Given the description of an element on the screen output the (x, y) to click on. 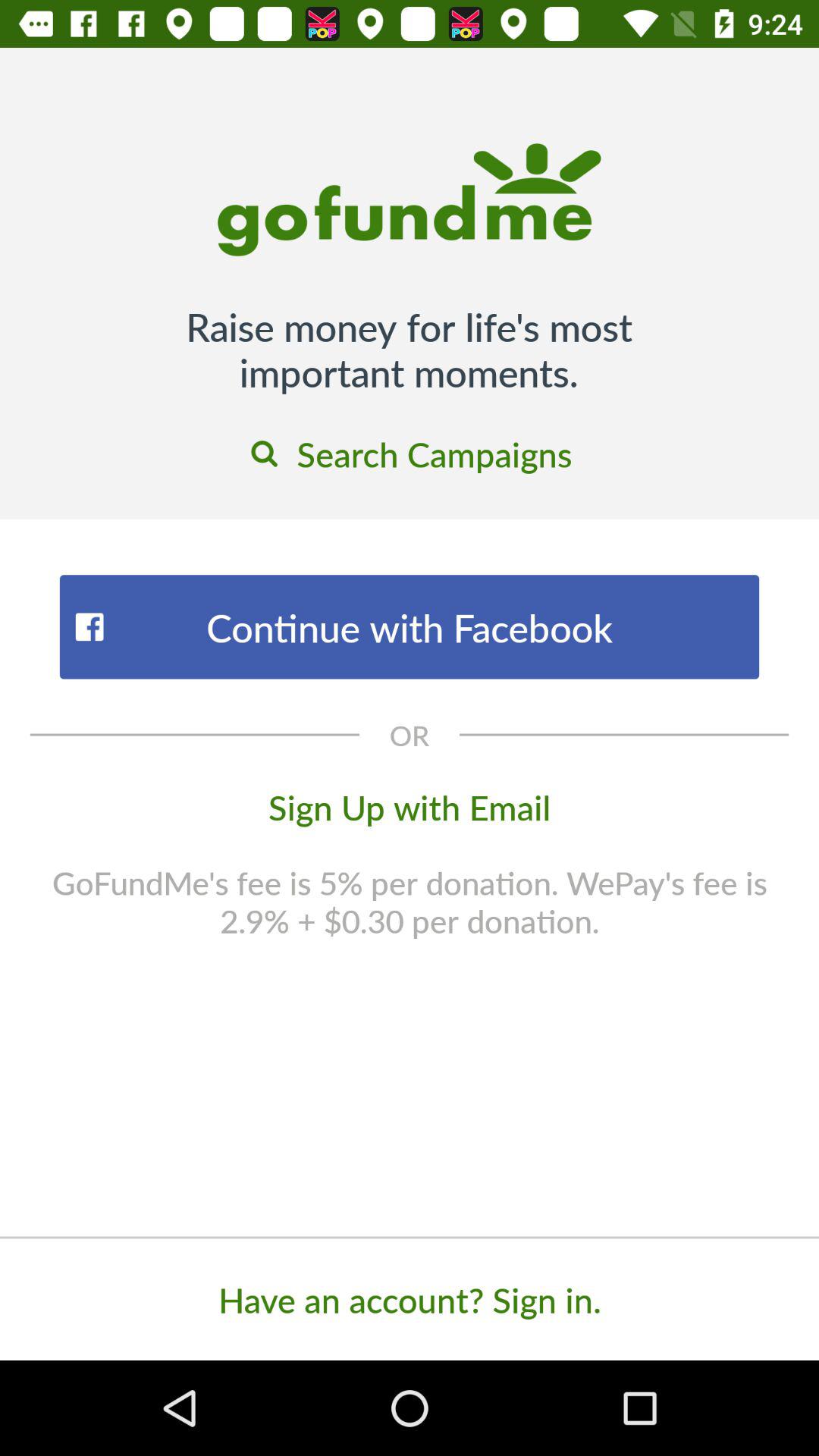
launch have an account item (409, 1299)
